Given the description of an element on the screen output the (x, y) to click on. 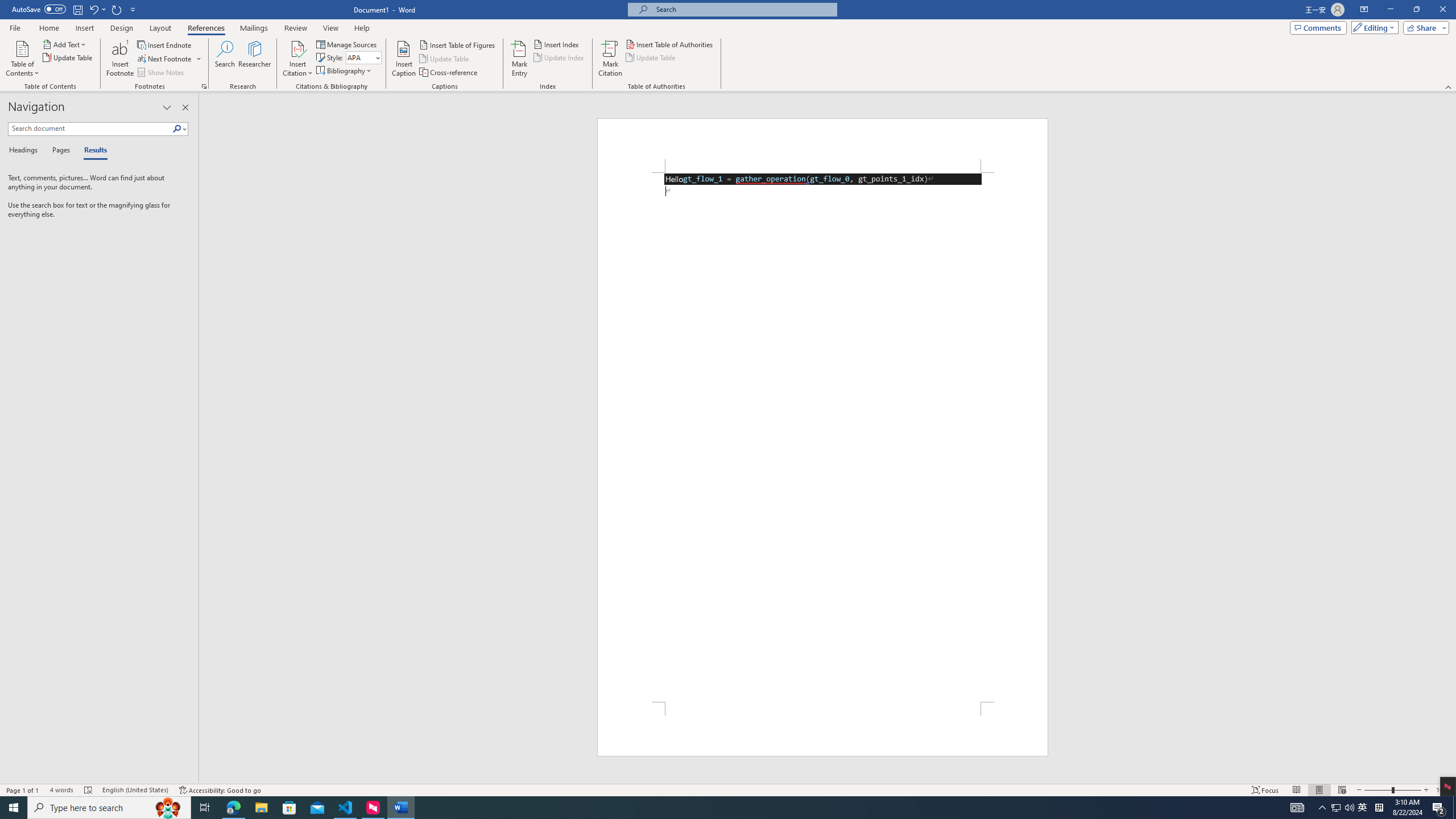
Update Index (559, 56)
Pages (59, 150)
Style (360, 57)
Review (295, 28)
Accessibility Checker Accessibility: Good to go (220, 790)
Home (48, 28)
Insert Index... (556, 44)
Minimize (1390, 9)
Open (377, 57)
Task Pane Options (167, 107)
Comments (1318, 27)
Focus  (1265, 790)
Class: NetUIImage (177, 128)
Spelling and Grammar Check Errors (88, 790)
